Given the description of an element on the screen output the (x, y) to click on. 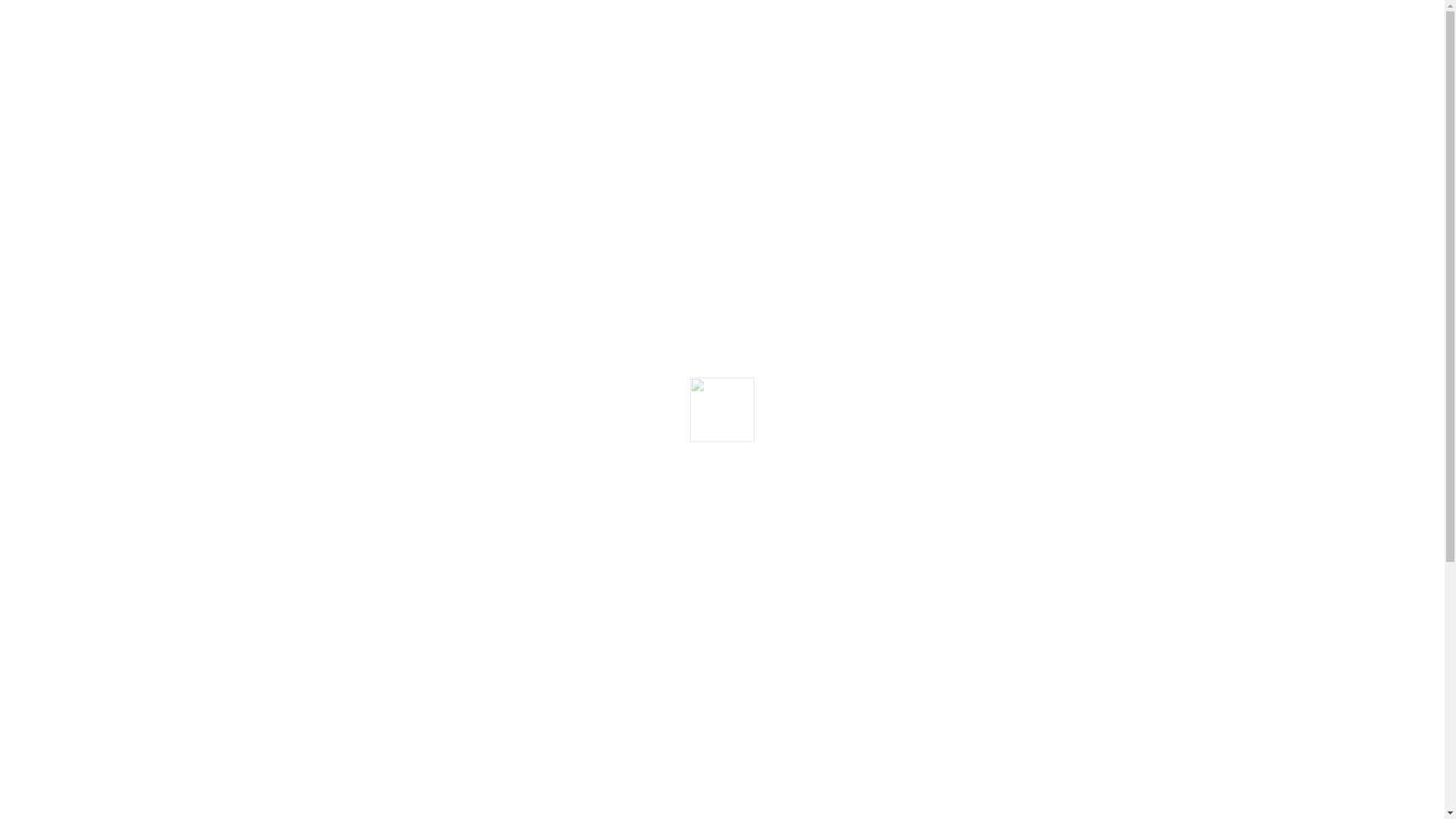
Le concept Element type: text (523, 484)
02 96 47 35 80 Element type: text (443, 552)
L'actu Element type: text (854, 484)
accueil@bhz-coworking.com Element type: text (727, 552)
